Given the description of an element on the screen output the (x, y) to click on. 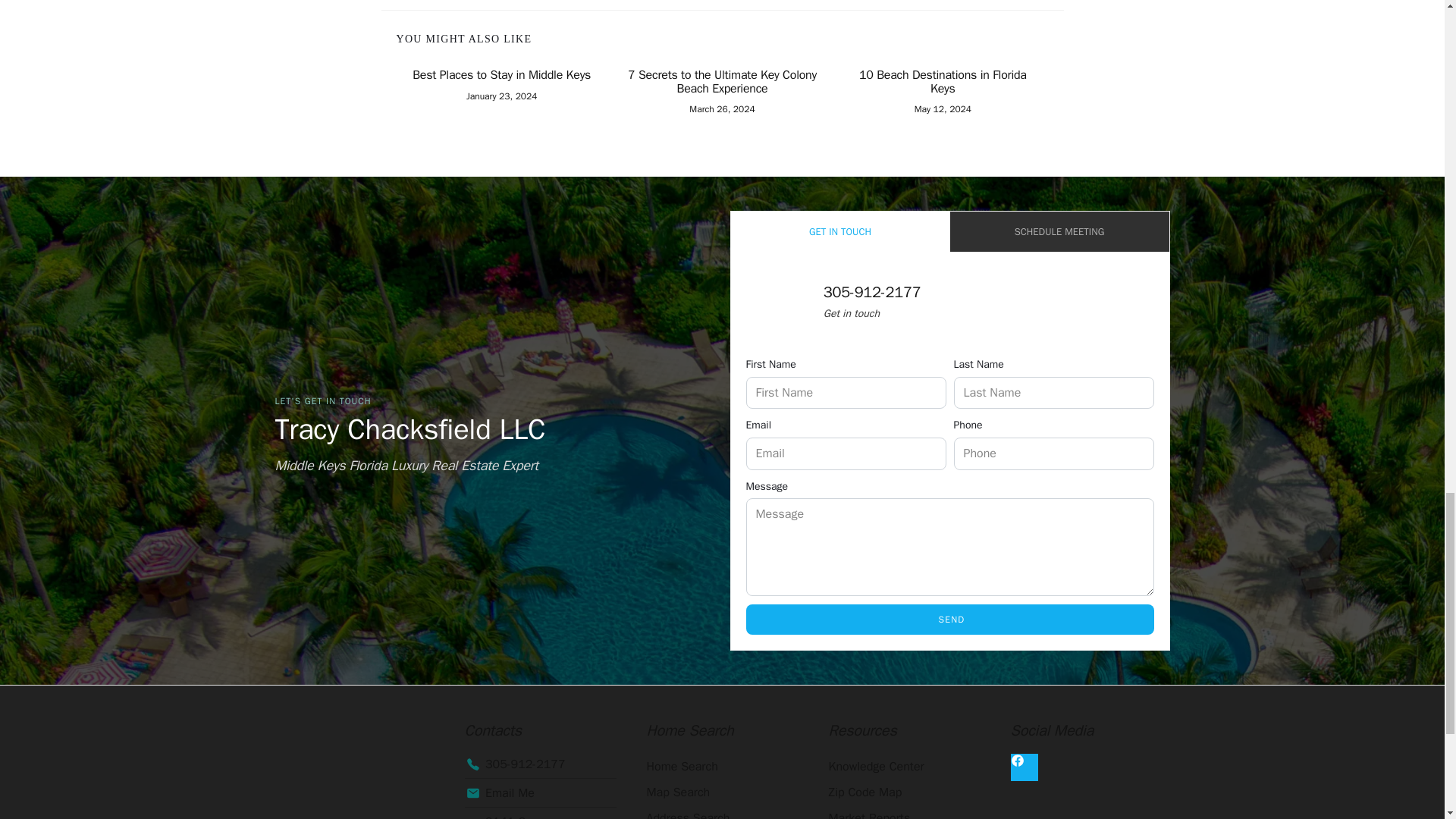
Market Reports (903, 812)
Map Search (721, 792)
SEND (949, 619)
305-912-2177 (539, 763)
Zip Code Map (903, 792)
10 Beach Destinations in Florida Keys (942, 81)
7 Secrets to the Ultimate Key Colony Beach Experience (722, 81)
Address Search (721, 812)
9141 Overseas Highway, Marathon, Florida (539, 815)
Knowledge Center (903, 766)
305-912-2177 (872, 292)
Email Me (539, 792)
Best Places to Stay in Middle Keys (500, 75)
Home Search (721, 766)
